Given the description of an element on the screen output the (x, y) to click on. 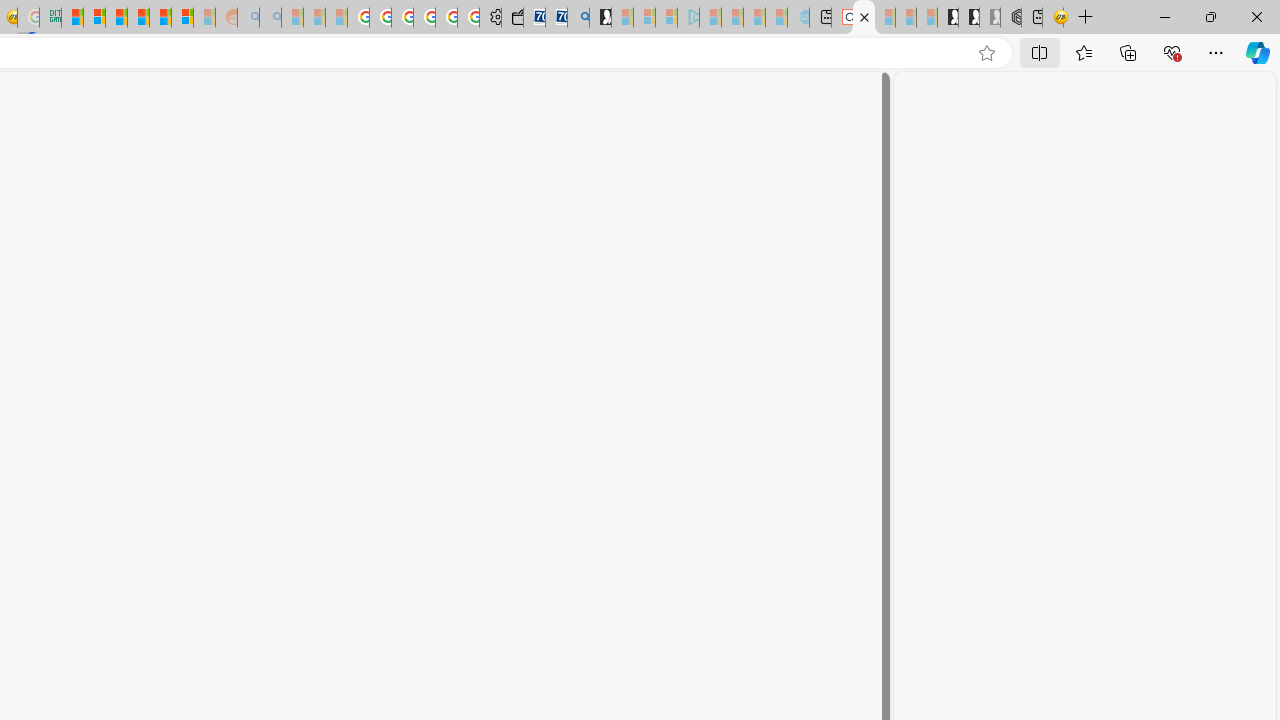
Add this page to favorites (Ctrl+D) (986, 53)
Restore (1210, 16)
Cheap Car Rentals - Save70.com (556, 17)
